Given the description of an element on the screen output the (x, y) to click on. 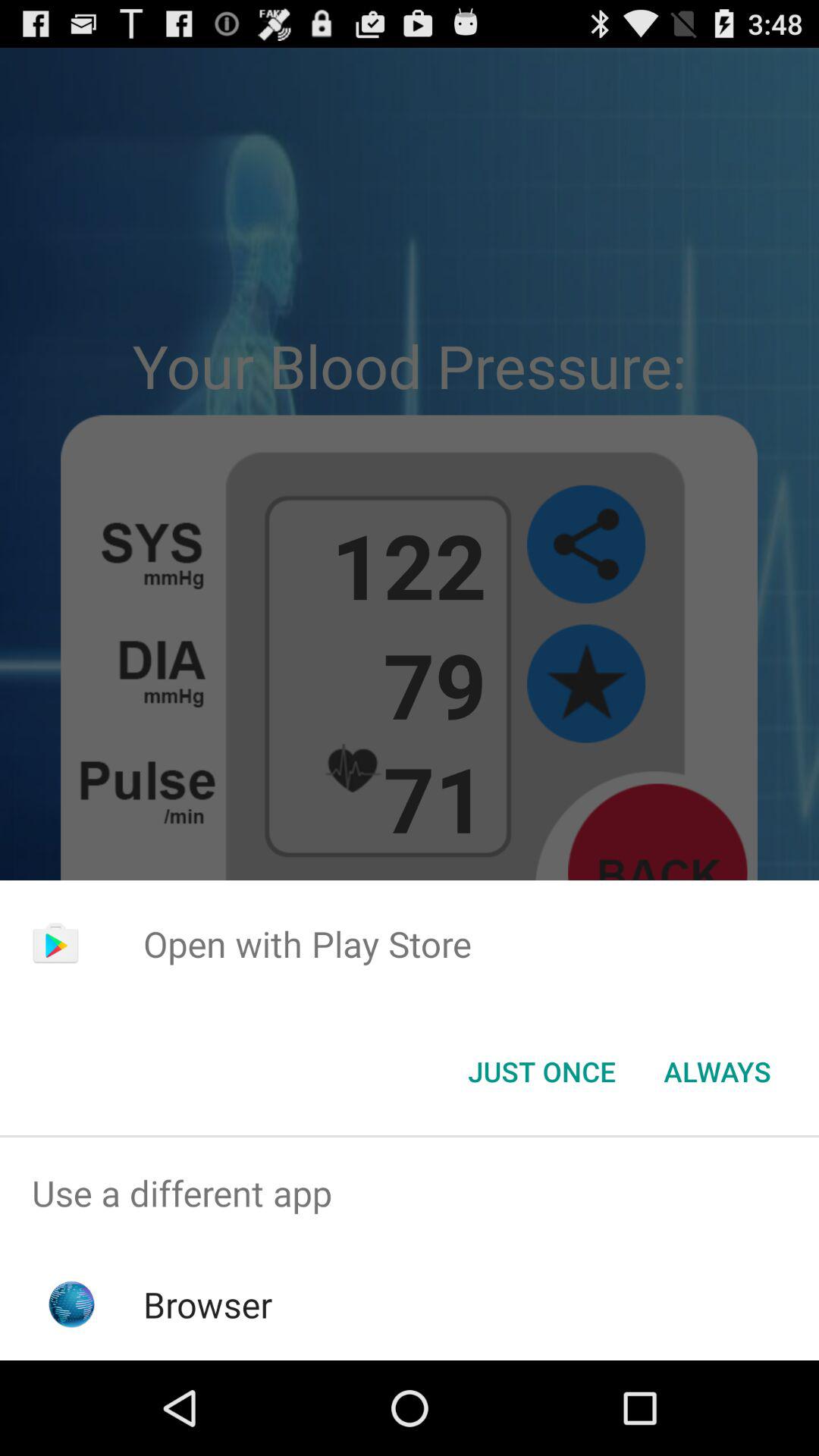
click the item next to always (541, 1071)
